Given the description of an element on the screen output the (x, y) to click on. 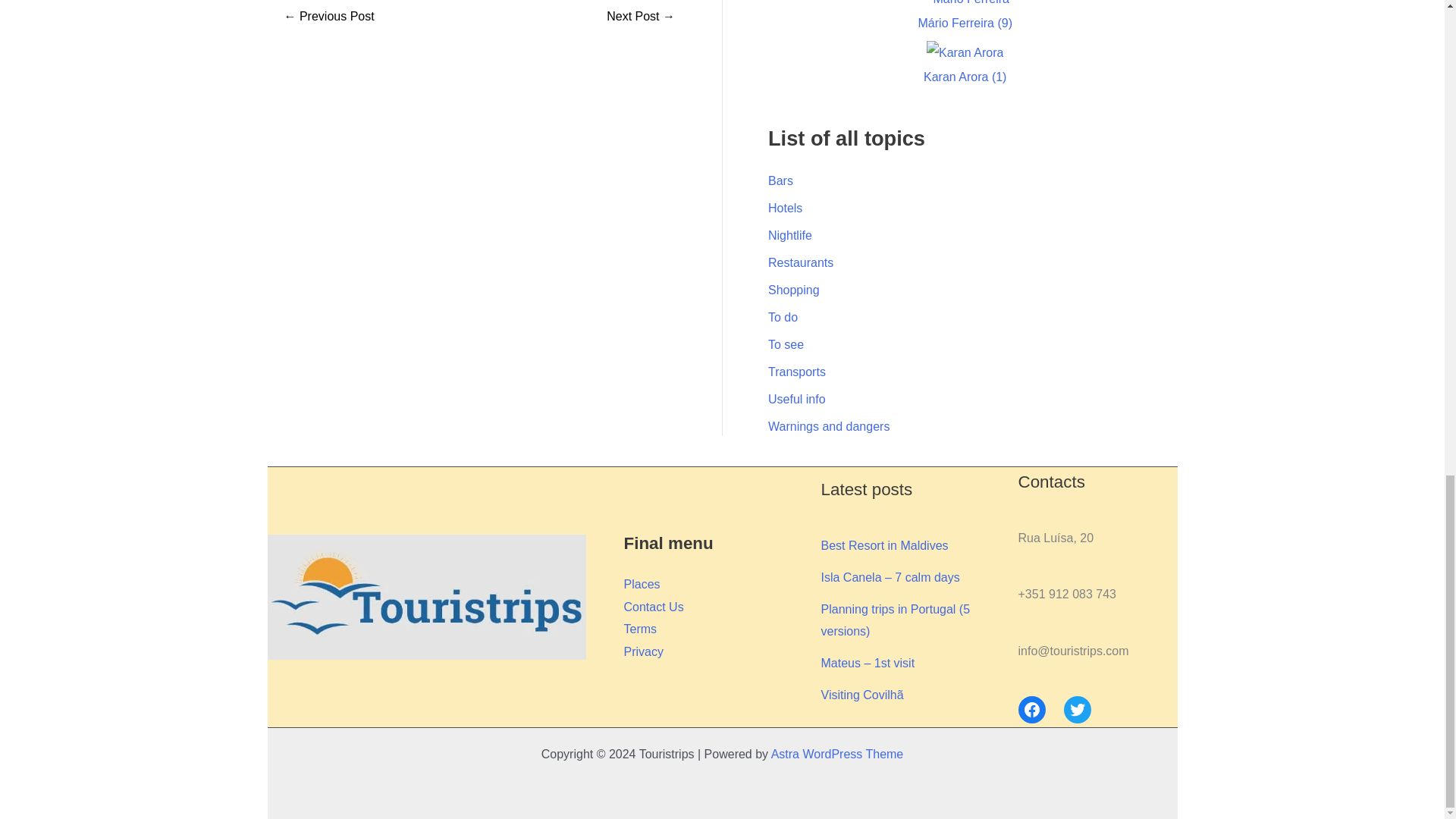
Ephesus twice (641, 16)
